Given the description of an element on the screen output the (x, y) to click on. 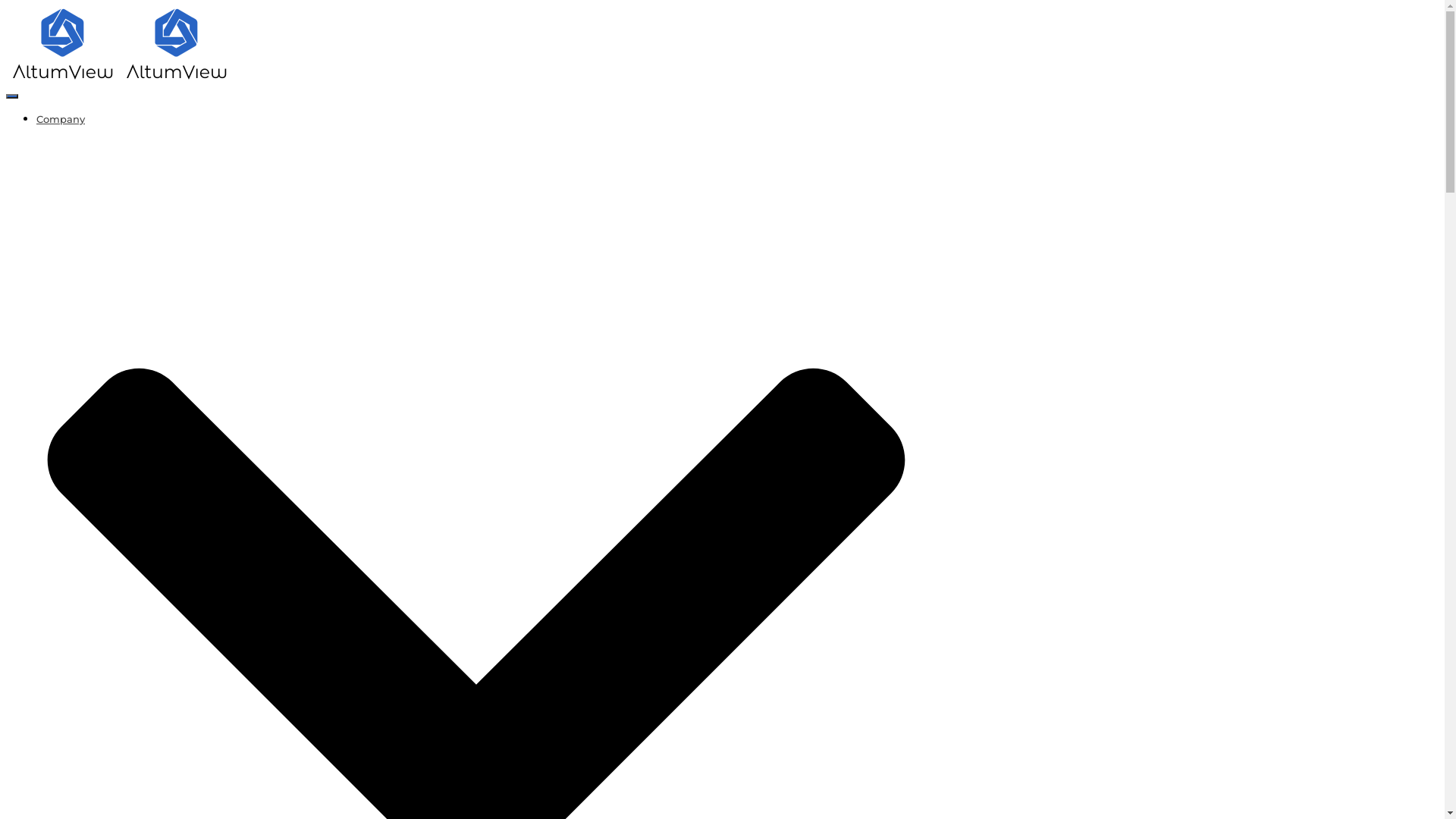
Toggle Navigation Element type: text (12, 96)
AltumView Element type: hover (119, 77)
